Given the description of an element on the screen output the (x, y) to click on. 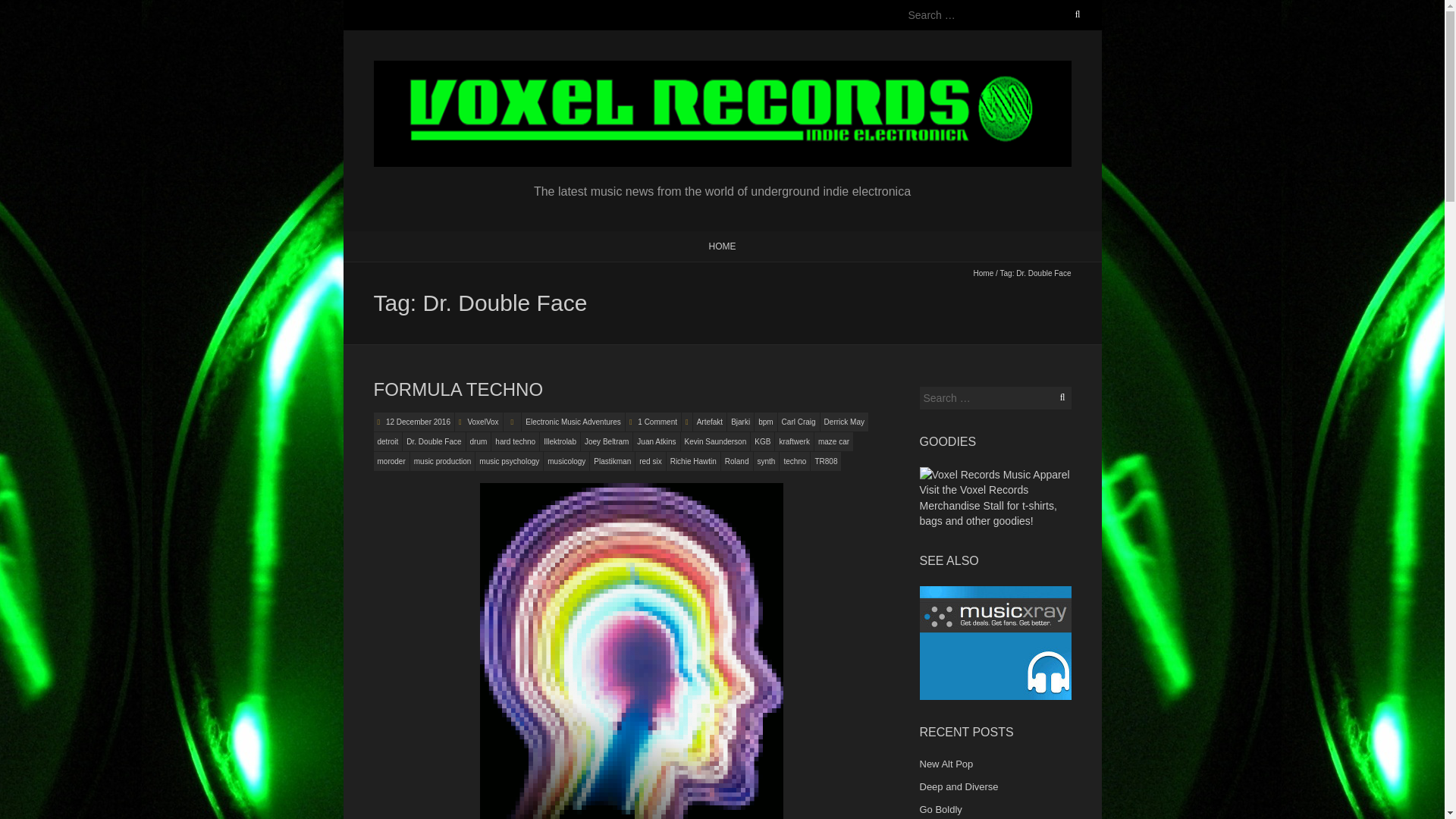
kraftwerk (793, 441)
HOME (721, 245)
Dr. Double Face (433, 441)
VoxelVox (482, 421)
Formula Techno (457, 389)
KGB (762, 441)
Category (512, 421)
TR808 (825, 461)
hard techno (515, 441)
moroder (390, 461)
Kevin Saunderson (716, 441)
music production (443, 461)
musicology (566, 461)
View all posts by VoxelVox (482, 421)
Voxel Records News (721, 68)
